Given the description of an element on the screen output the (x, y) to click on. 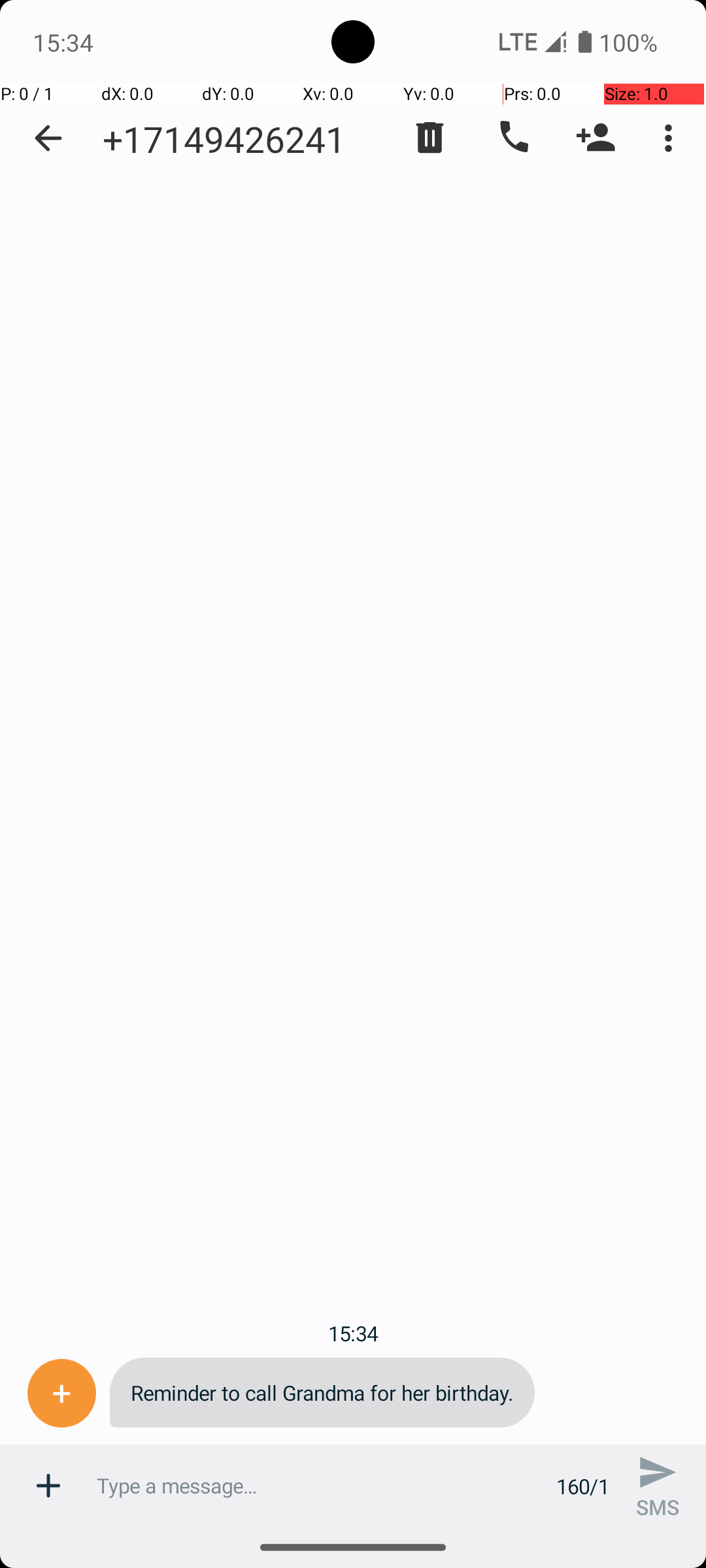
+17149426241 Element type: android.widget.TextView (223, 138)
160/1 Element type: android.widget.TextView (582, 1485)
Reminder to call Grandma for her birthday. Element type: android.widget.TextView (321, 1392)
